Given the description of an element on the screen output the (x, y) to click on. 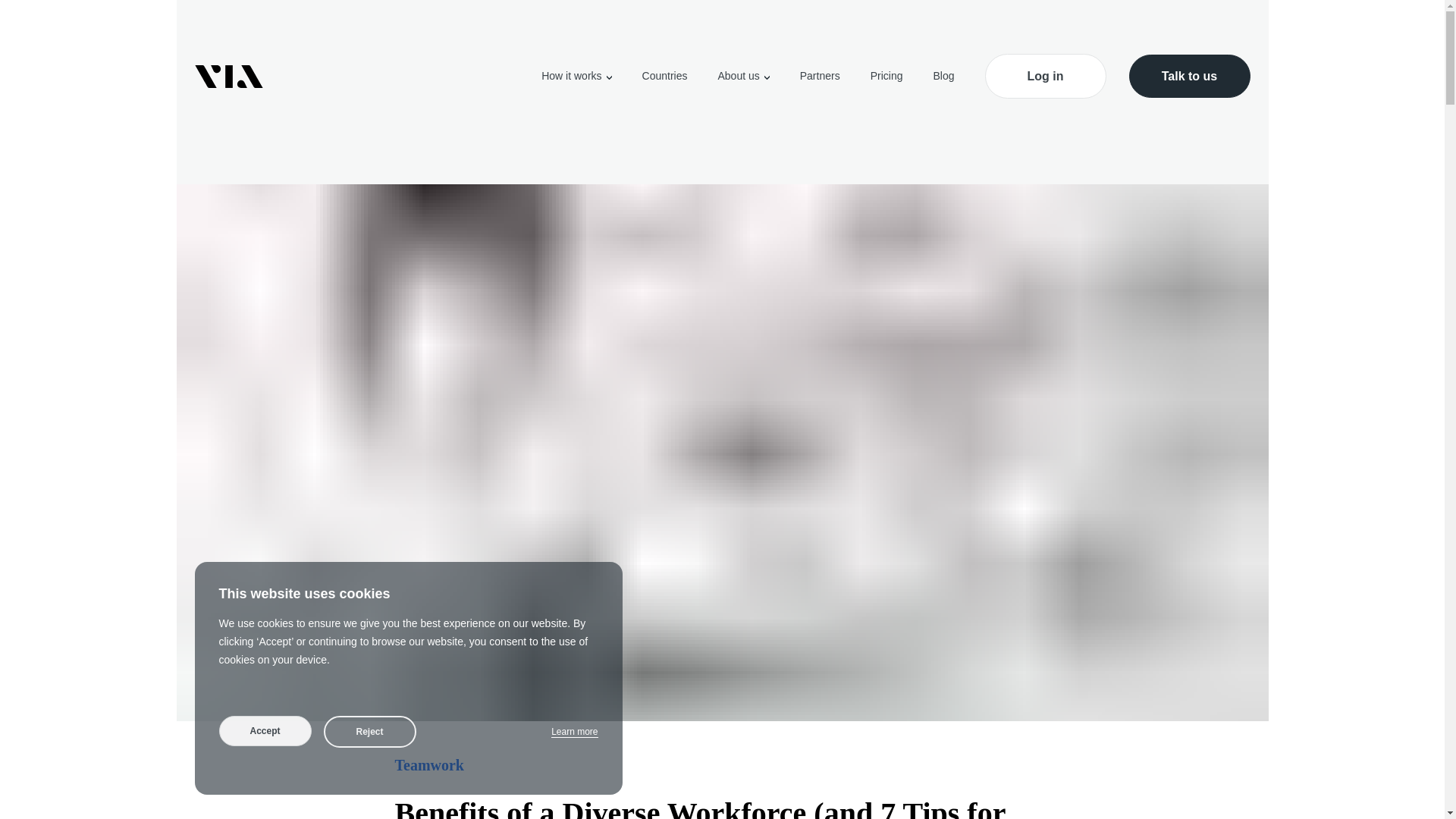
Countries (664, 75)
Partners (819, 75)
Blog (943, 75)
Learn more (573, 731)
Pricing (886, 75)
Reject (368, 731)
Talk to us (1188, 75)
Log in (1044, 76)
Accept (264, 730)
